Given the description of an element on the screen output the (x, y) to click on. 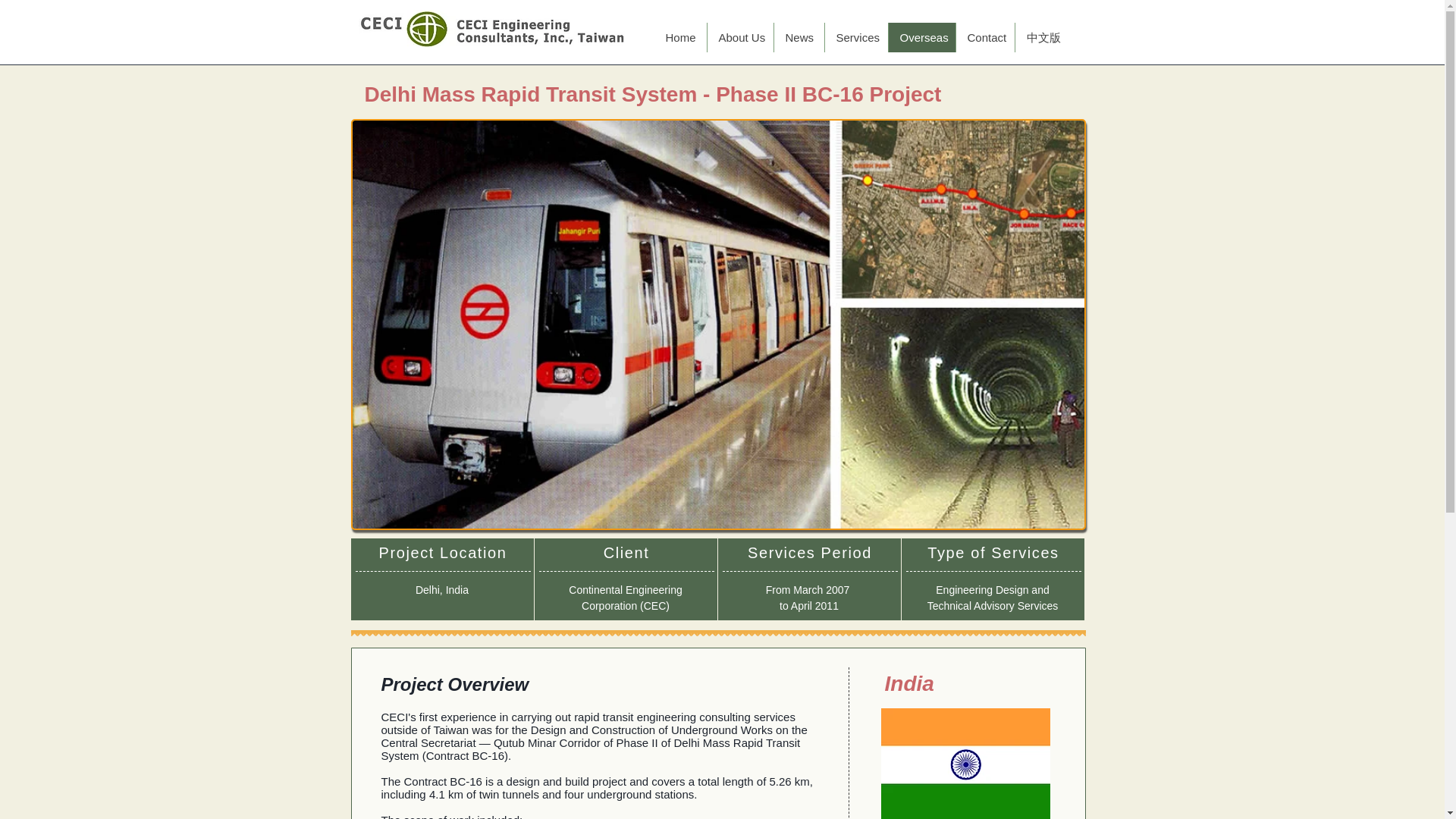
Services (855, 37)
Home (679, 37)
News (798, 37)
About Us (739, 37)
Contact (984, 37)
Overseas (920, 37)
